Given the description of an element on the screen output the (x, y) to click on. 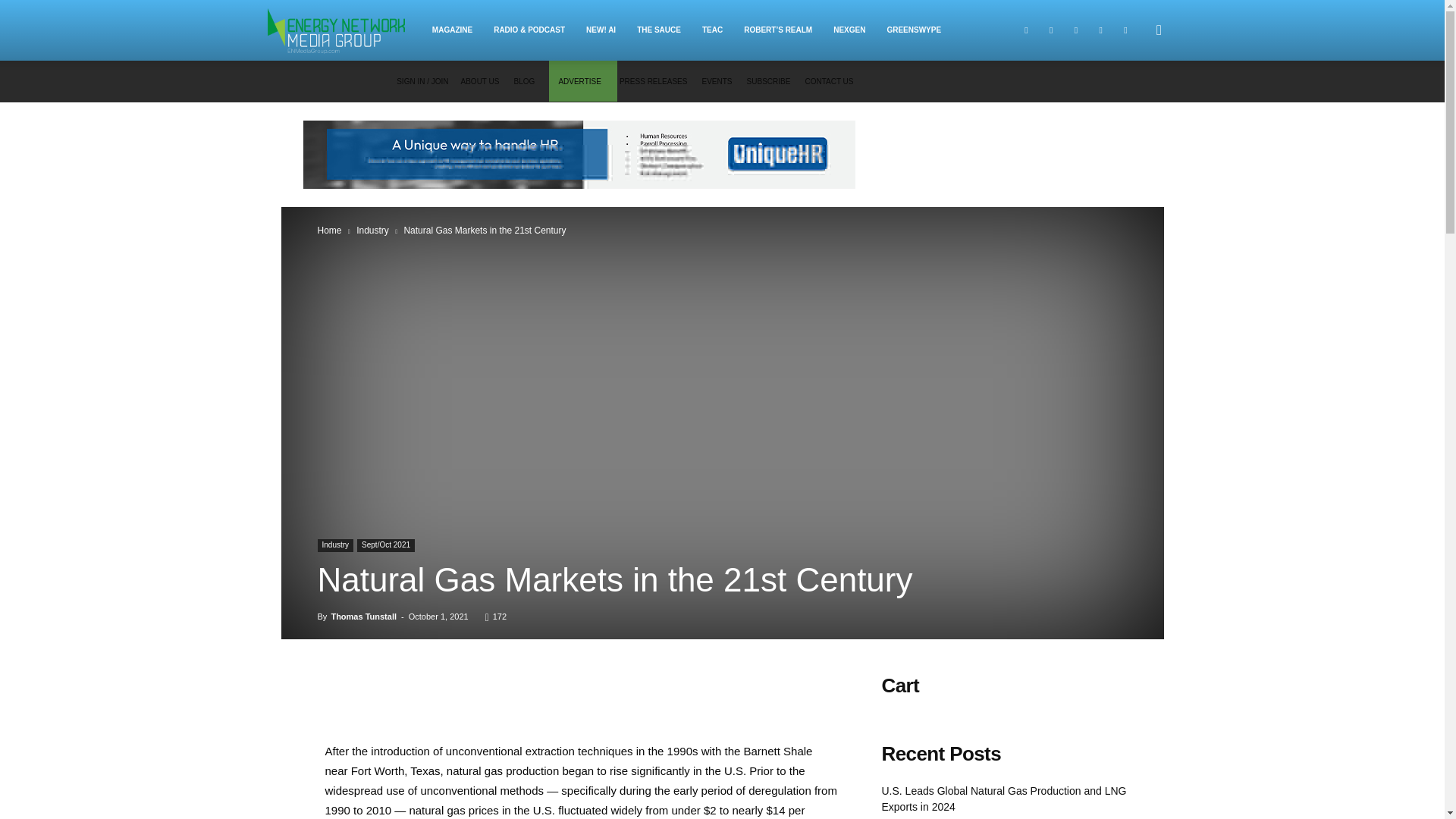
View all posts in Industry (372, 230)
Shale Magazine (343, 30)
MAGAZINE (452, 30)
